Given the description of an element on the screen output the (x, y) to click on. 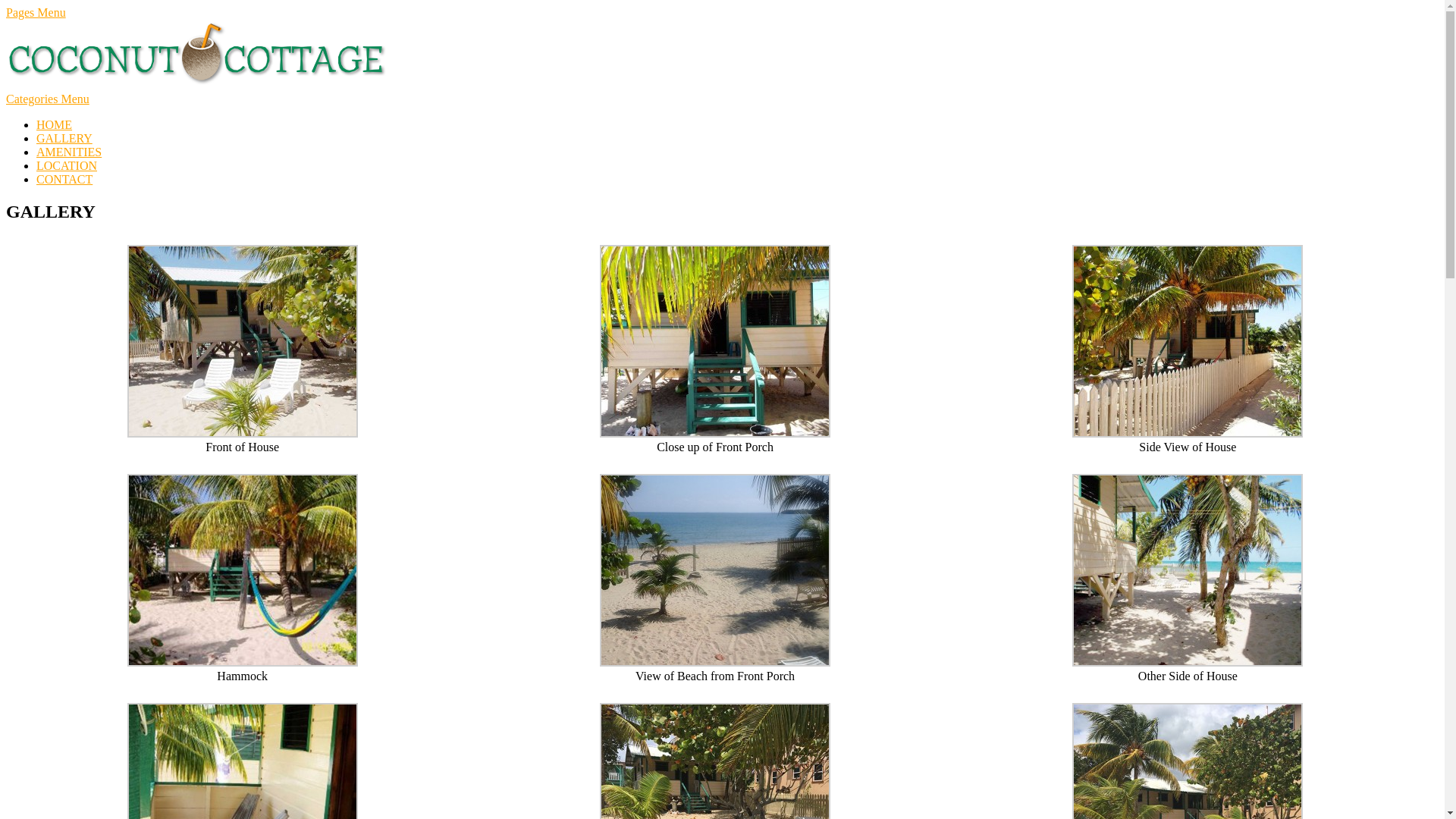
Categories Menu Element type: text (47, 98)
HOME Element type: text (54, 124)
Pages Menu Element type: text (35, 12)
GALLERY Element type: text (64, 137)
AMENITIES Element type: text (68, 151)
LOCATION Element type: text (66, 165)
CONTACT Element type: text (64, 178)
